Given the description of an element on the screen output the (x, y) to click on. 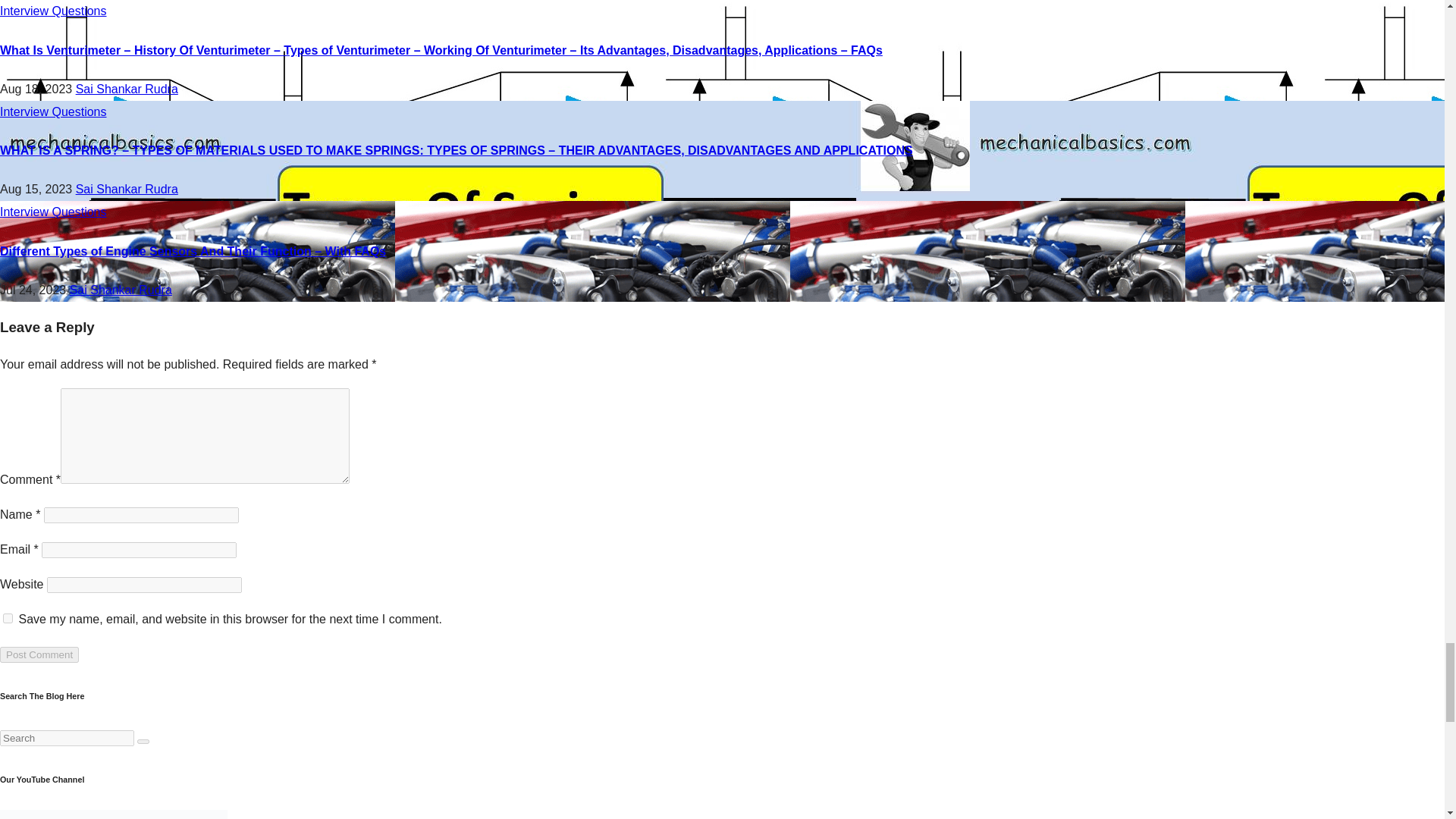
yes (7, 618)
Post Comment (39, 654)
